Given the description of an element on the screen output the (x, y) to click on. 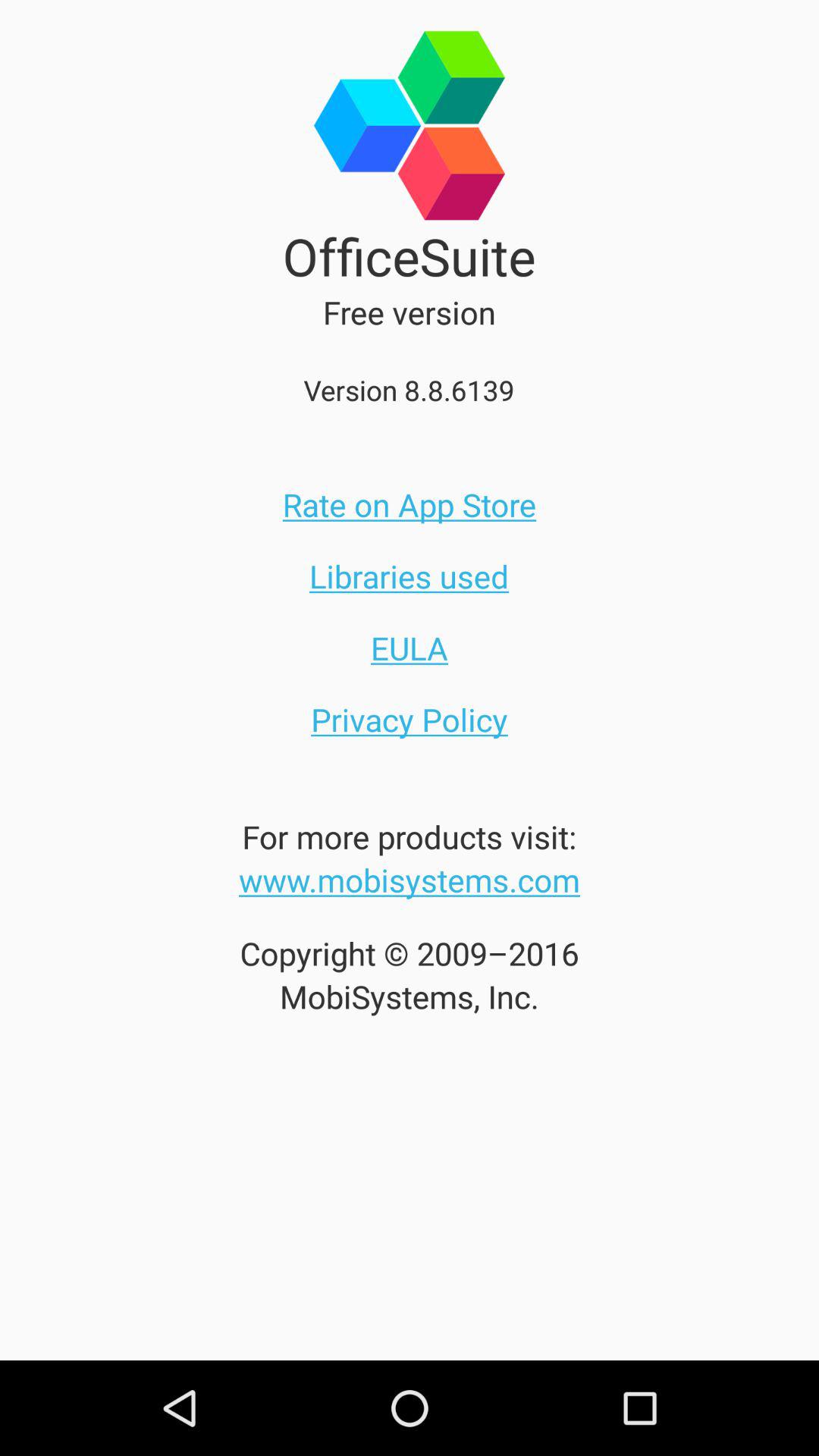
click the item below the libraries used icon (409, 647)
